Given the description of an element on the screen output the (x, y) to click on. 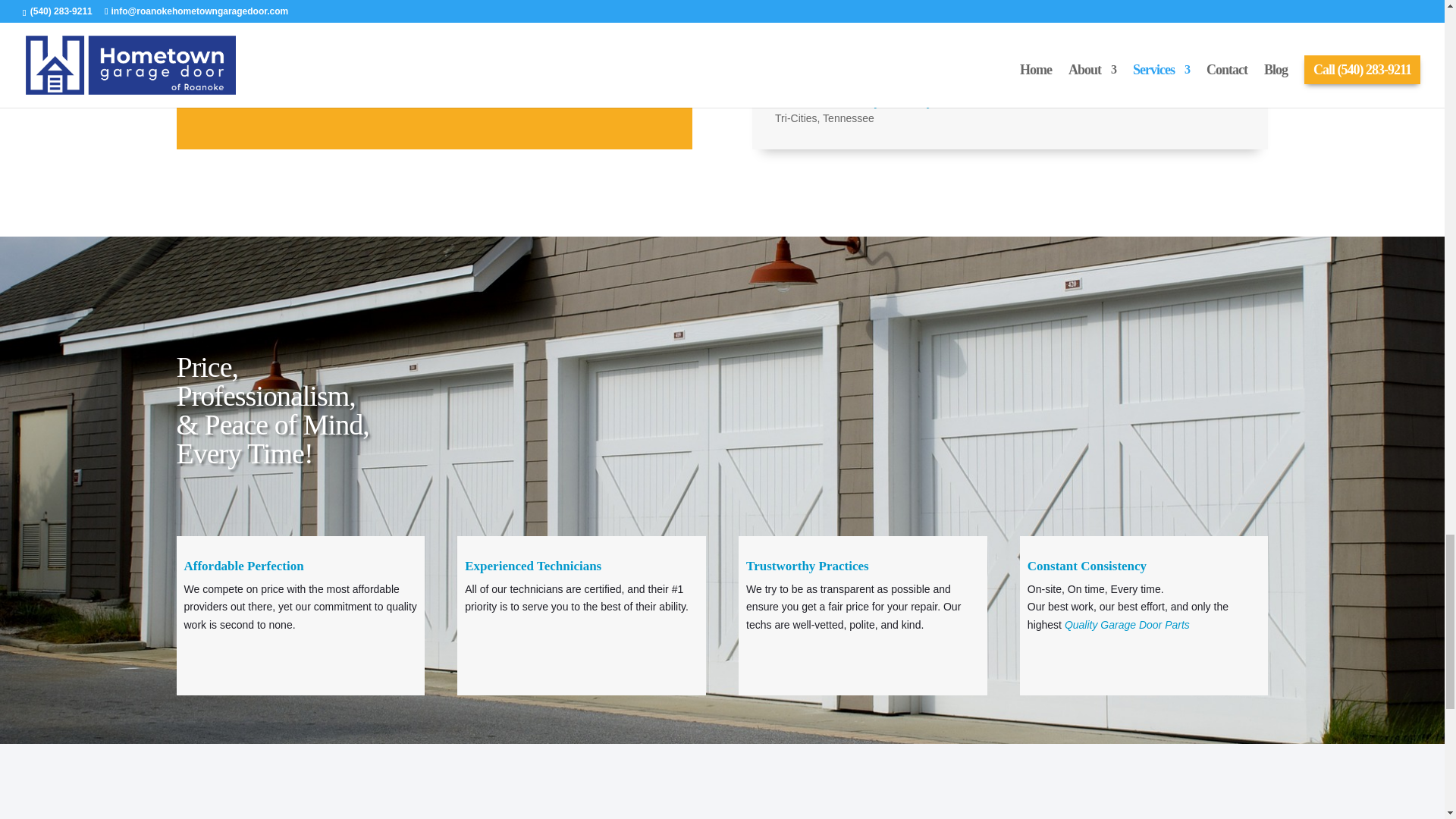
Quality Garage Door Parts (1126, 624)
Quality Garage Door Parts (1126, 624)
Submit (598, 68)
